Given the description of an element on the screen output the (x, y) to click on. 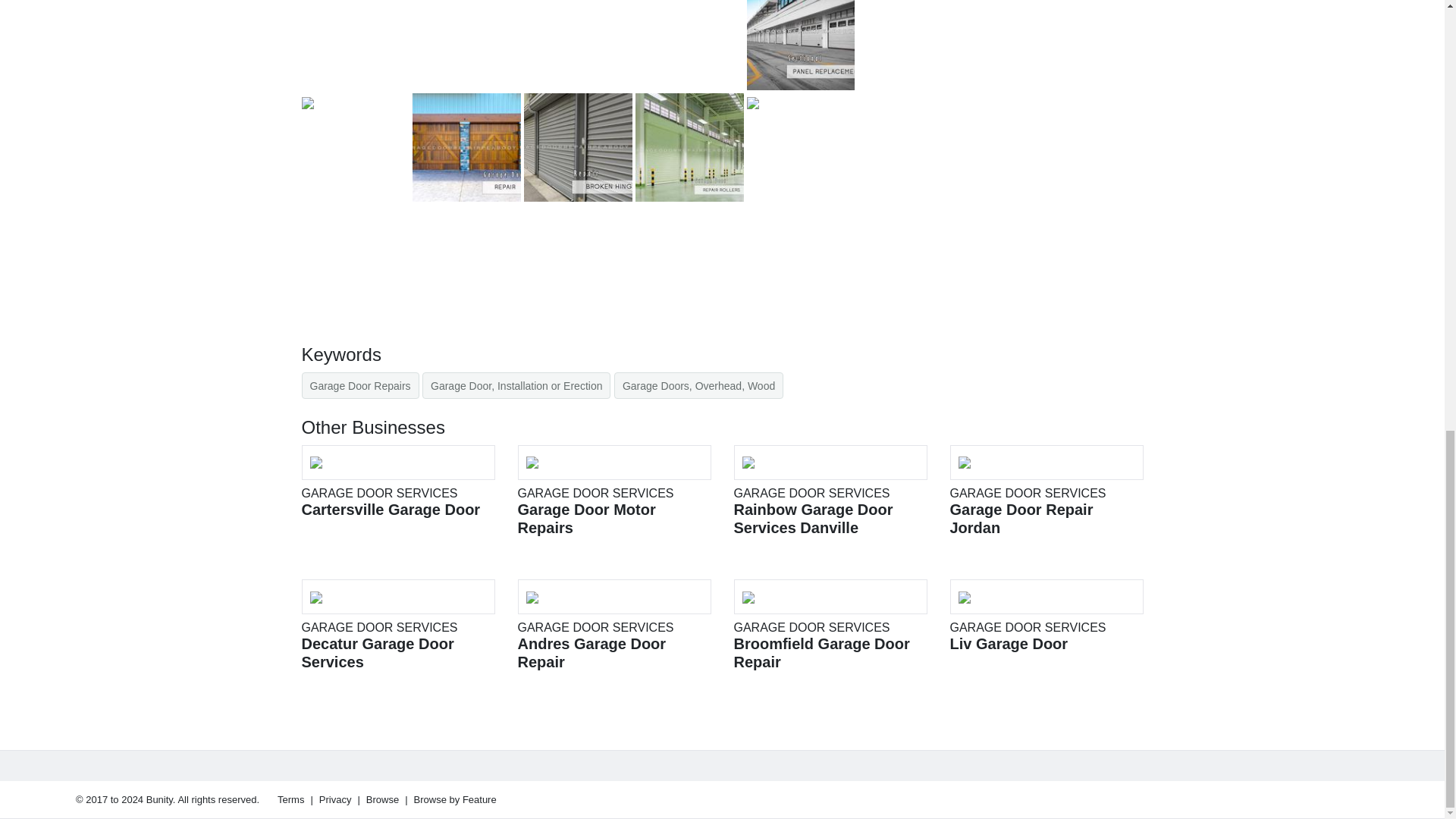
Garage Door, Installation or Erection (516, 385)
Garage Doors, Overhead, Wood (698, 385)
Garage Door Repairs (398, 481)
